Given the description of an element on the screen output the (x, y) to click on. 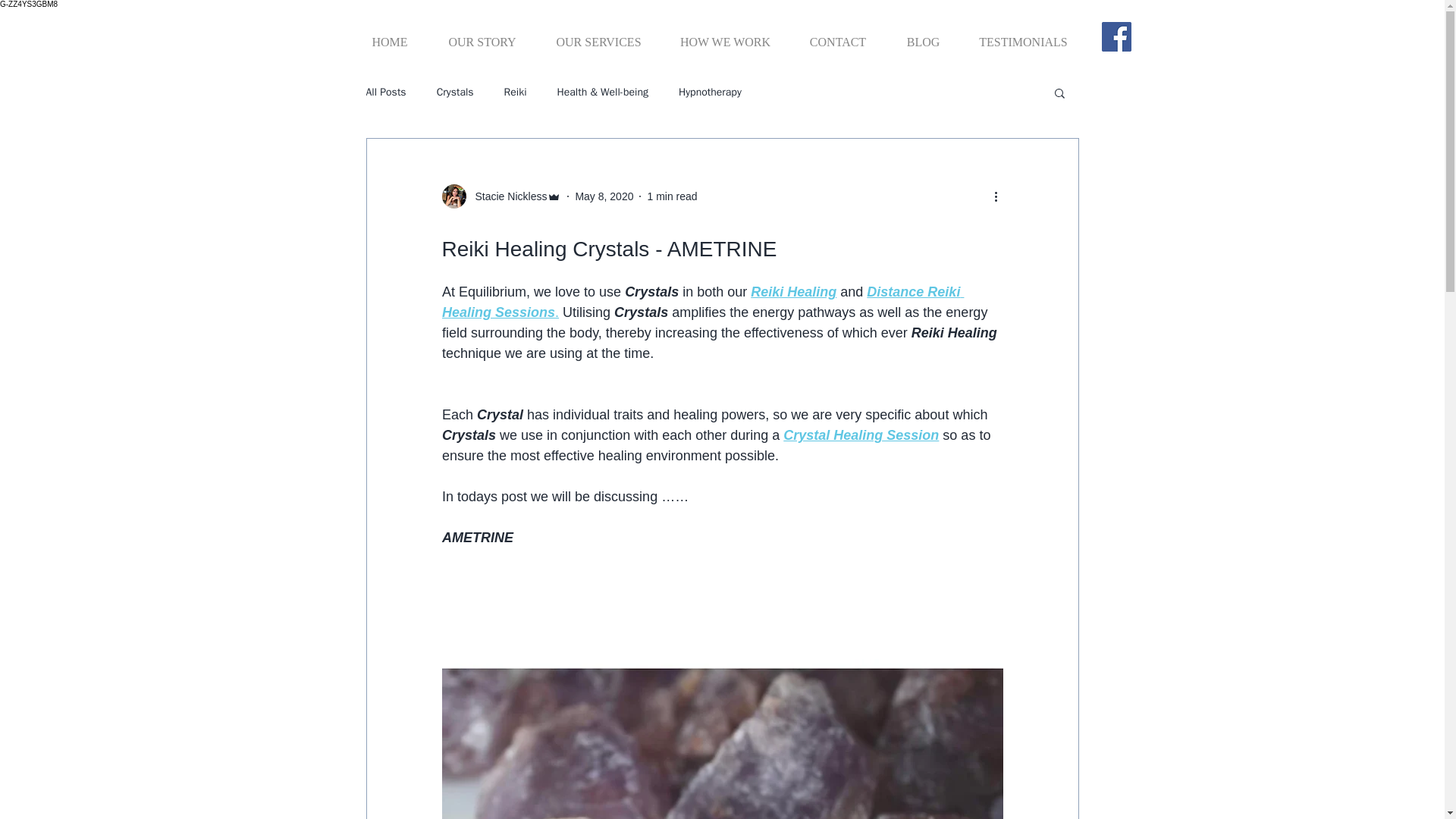
HOME (389, 35)
Distance Reiki Healing Sessions (701, 302)
Crystals (455, 92)
Stacie Nickless (506, 195)
1 min read (671, 195)
Reiki (515, 92)
TESTIMONIALS (1023, 35)
May 8, 2020 (604, 195)
OUR SERVICES (598, 35)
Reiki Healing (793, 291)
HOW WE WORK (725, 35)
BLOG (922, 35)
All Posts (385, 92)
. (556, 312)
OUR STORY (482, 35)
